Given the description of an element on the screen output the (x, y) to click on. 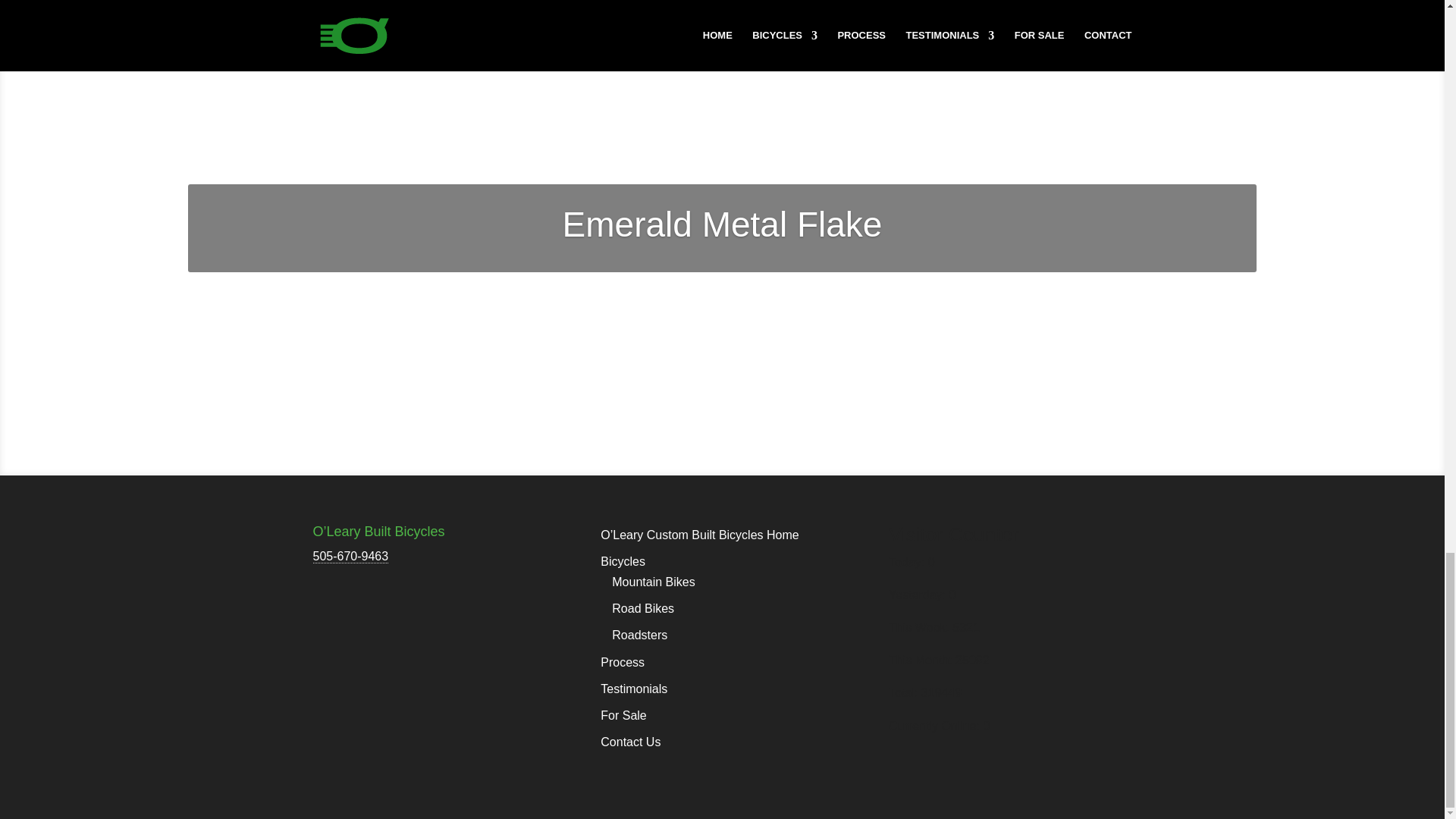
Mountain Bikes (652, 581)
505-670-9463 (350, 556)
Bicycles (622, 561)
